Given the description of an element on the screen output the (x, y) to click on. 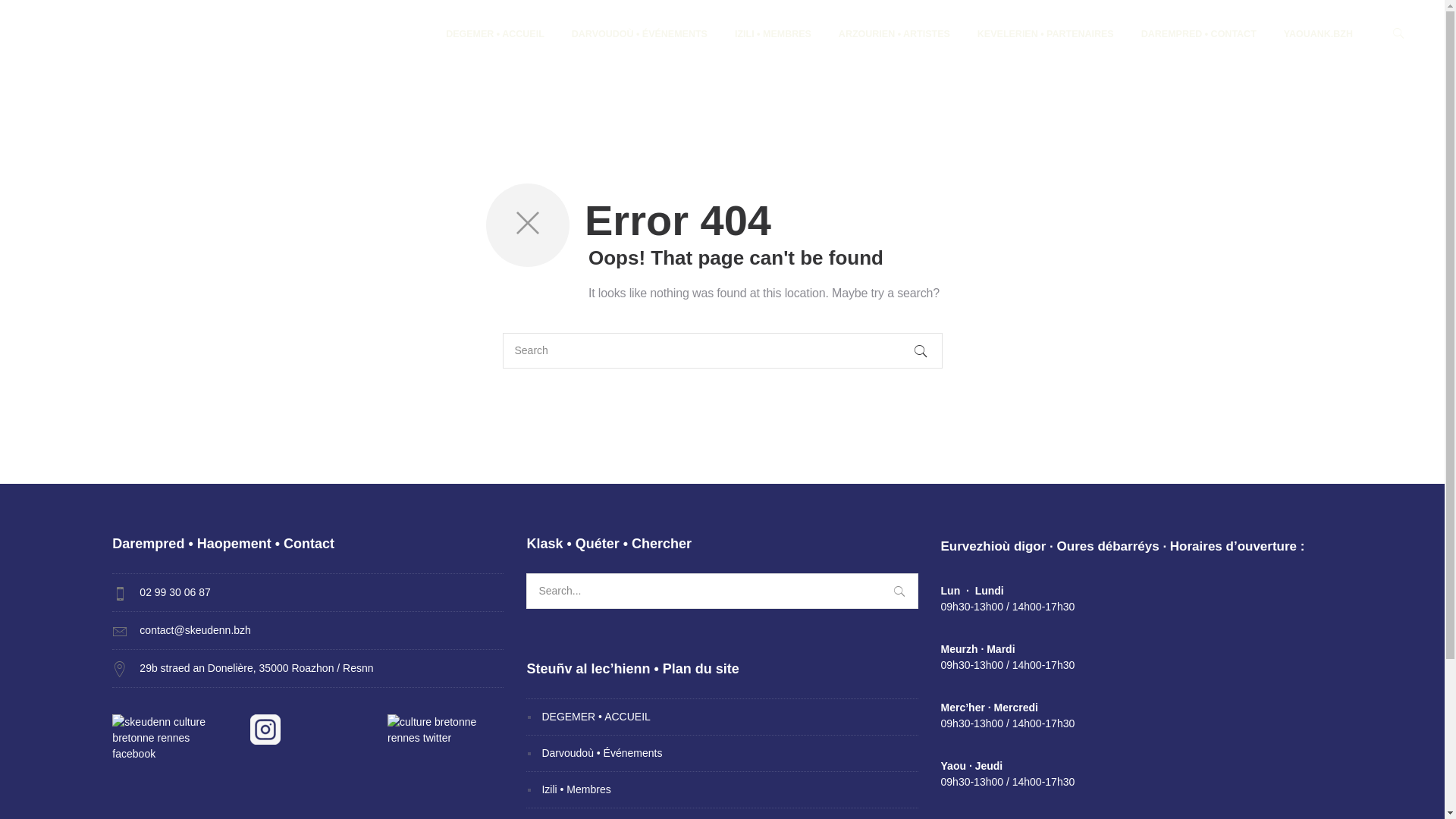
instagram Element type: hover (265, 729)
Twitter Element type: hover (445, 730)
YAOUANK.BZH Element type: text (1318, 34)
